Given the description of an element on the screen output the (x, y) to click on. 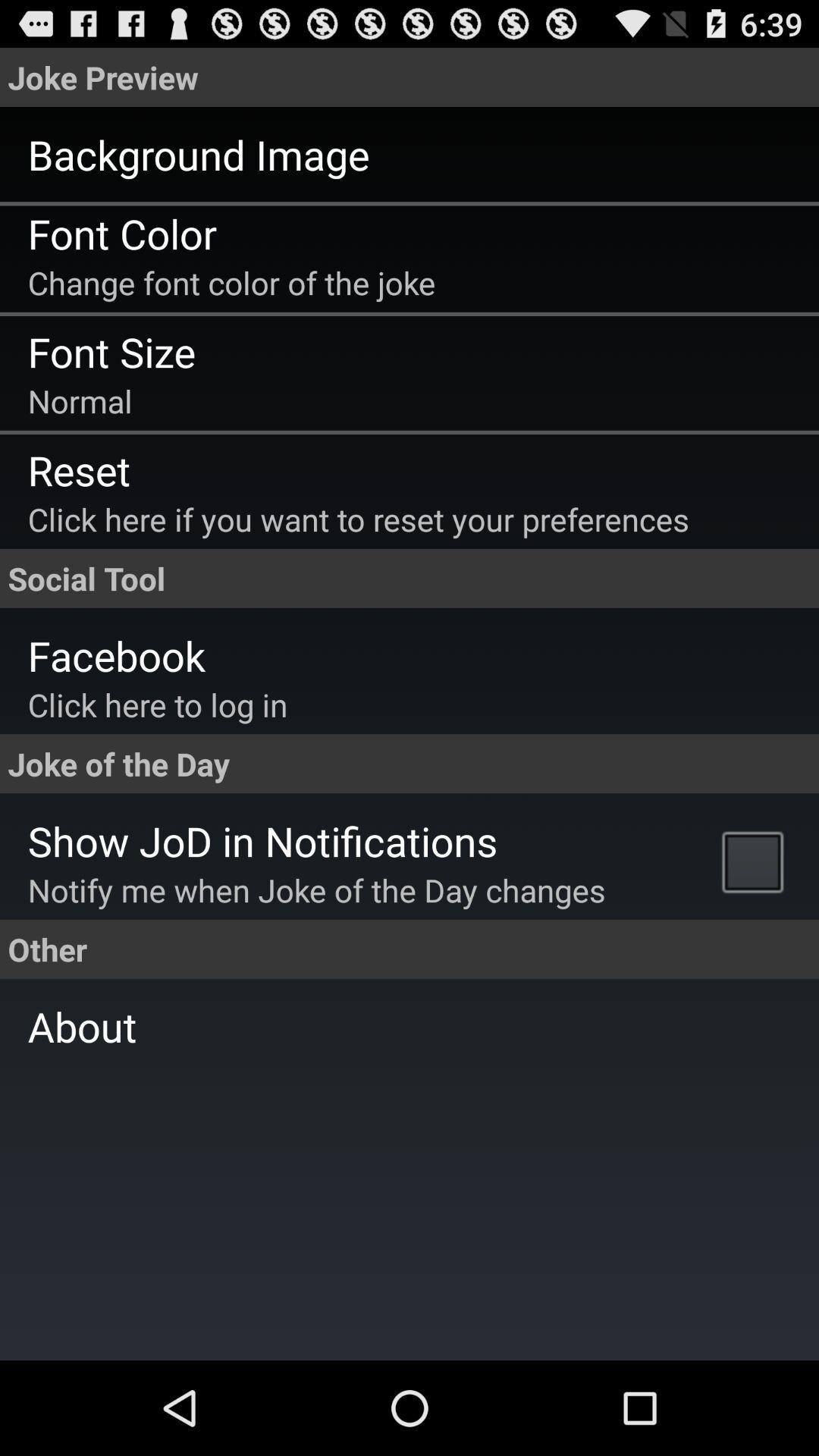
turn on icon above about item (756, 860)
